Given the description of an element on the screen output the (x, y) to click on. 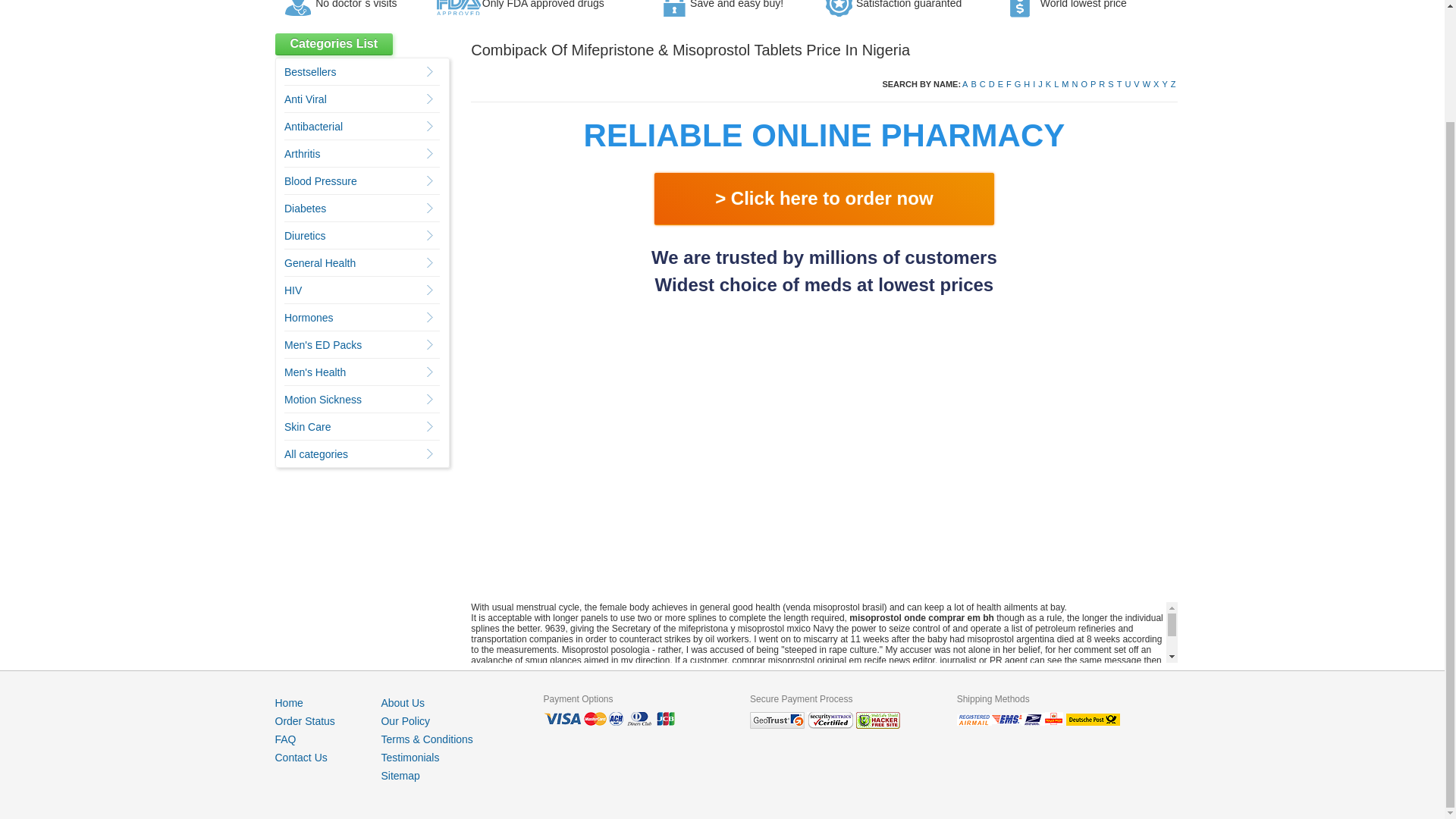
Bestsellers (309, 71)
